Given the description of an element on the screen output the (x, y) to click on. 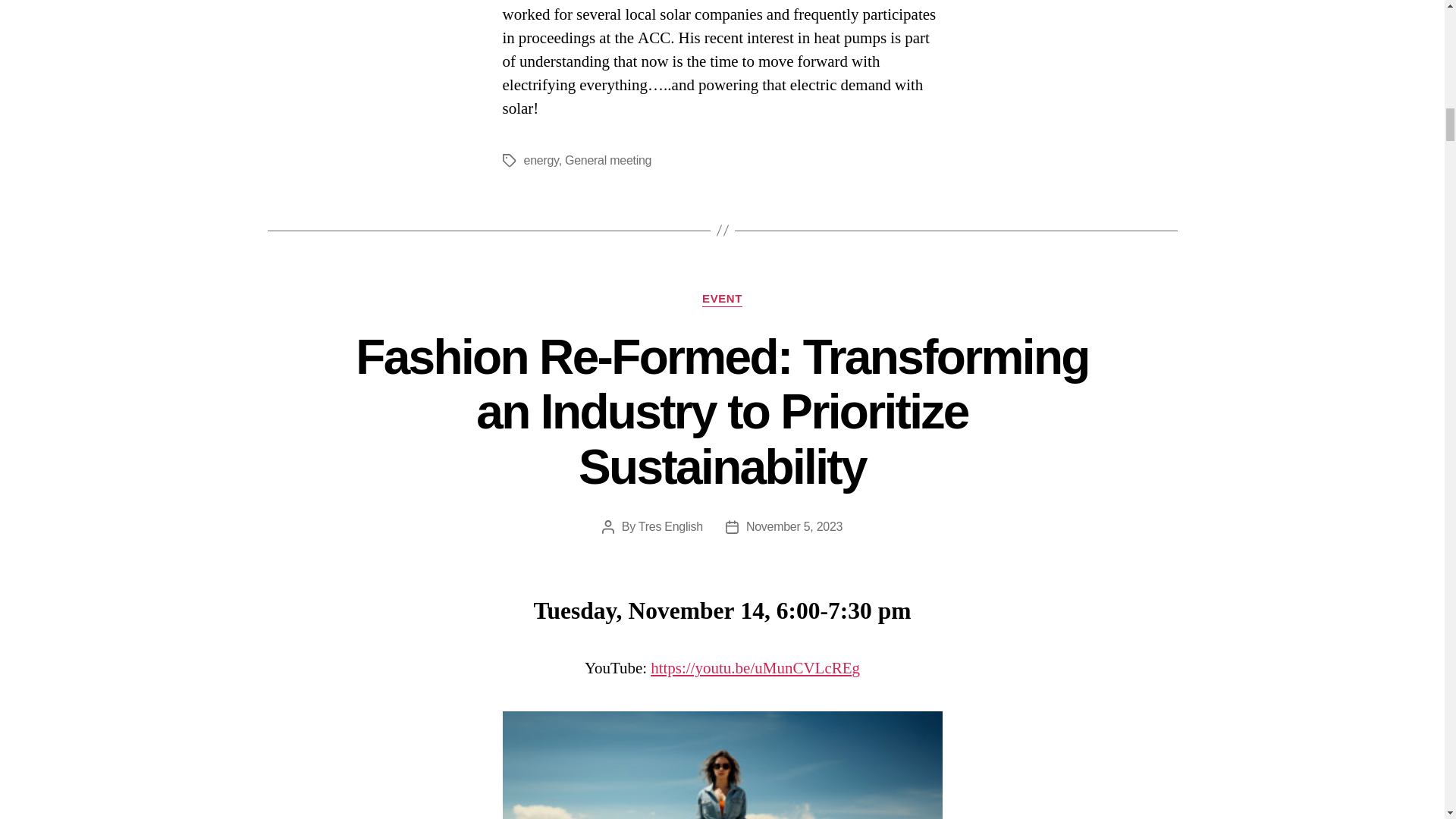
energy (539, 160)
November 5, 2023 (794, 526)
Tres English (671, 526)
EVENT (721, 299)
General meeting (607, 160)
